Given the description of an element on the screen output the (x, y) to click on. 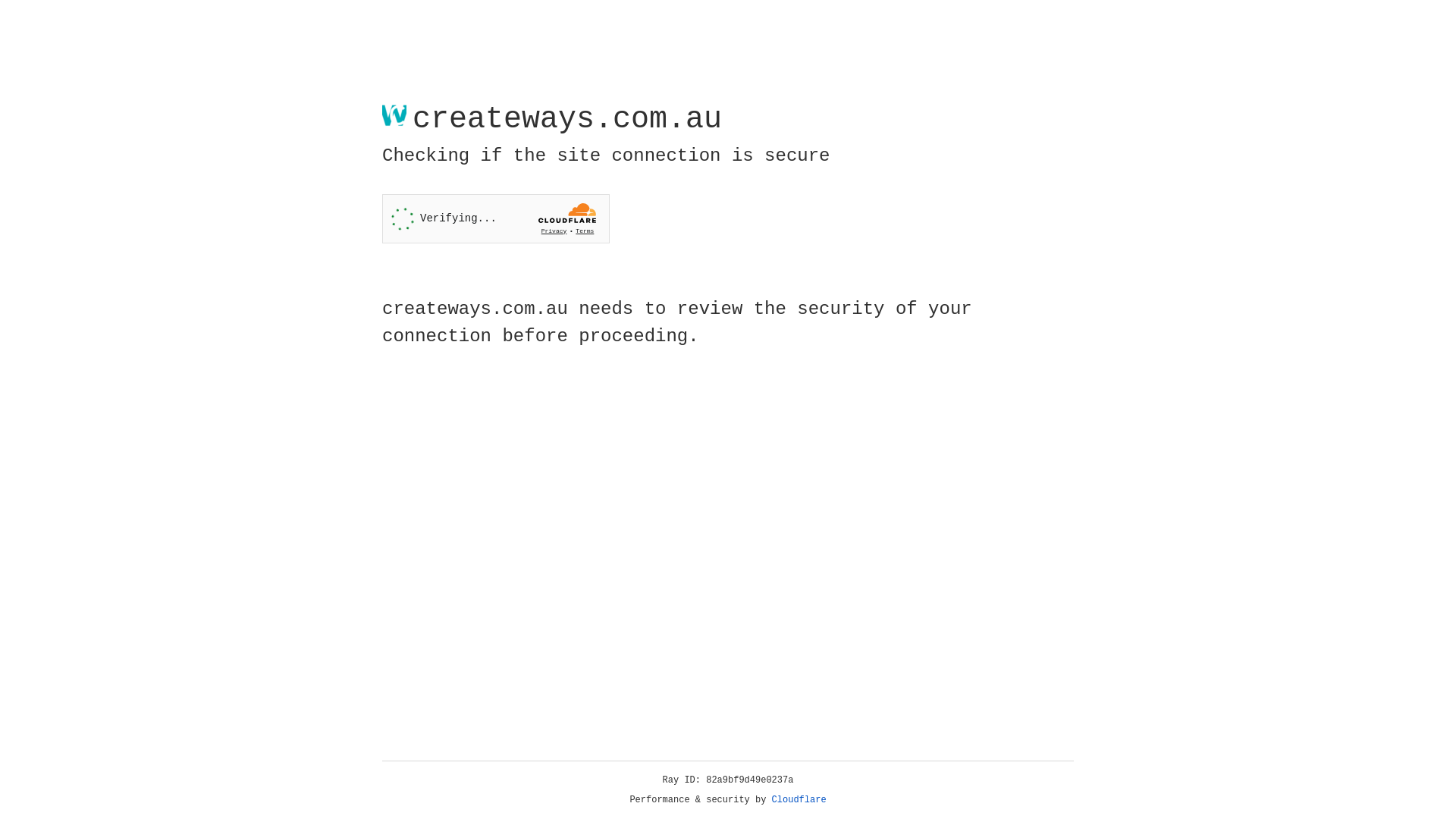
Cloudflare Element type: text (798, 799)
Widget containing a Cloudflare security challenge Element type: hover (495, 218)
